Given the description of an element on the screen output the (x, y) to click on. 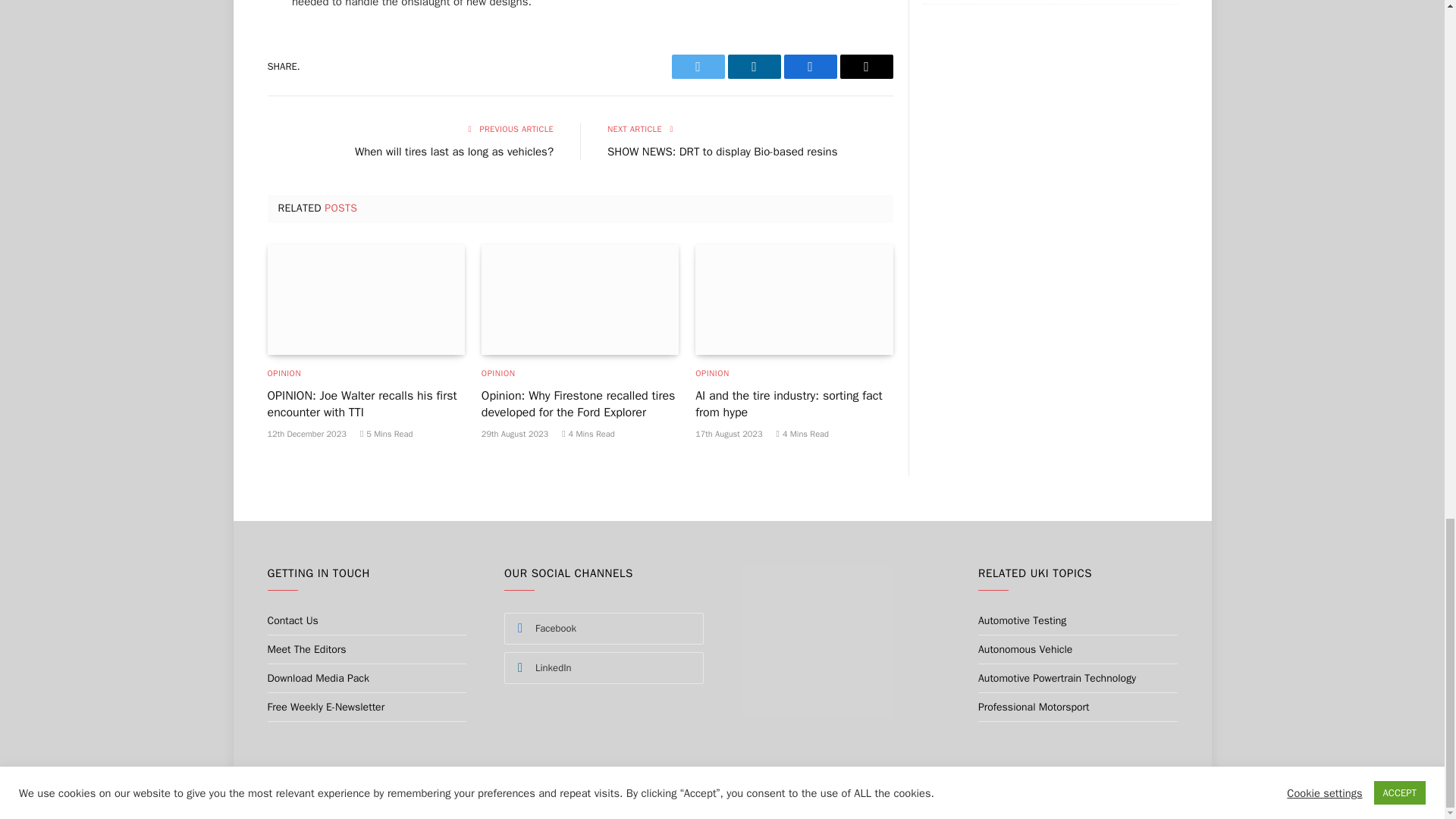
Share on Facebook (810, 66)
Share on Twitter (698, 66)
Share on LinkedIn (754, 66)
